Given the description of an element on the screen output the (x, y) to click on. 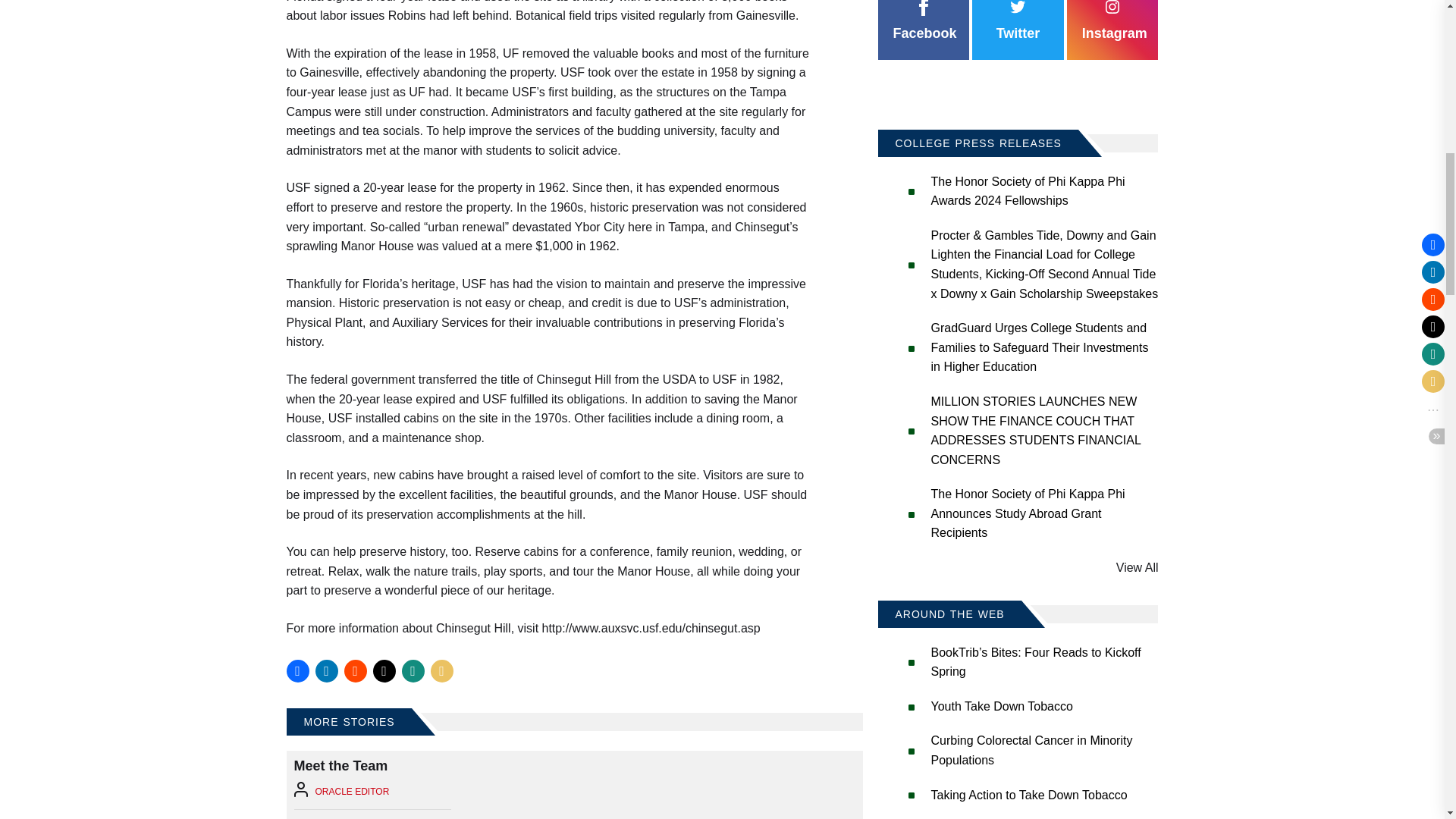
The Honor Society of Phi Kappa Phi Awards 2024 Fellowships (1028, 191)
